Given the description of an element on the screen output the (x, y) to click on. 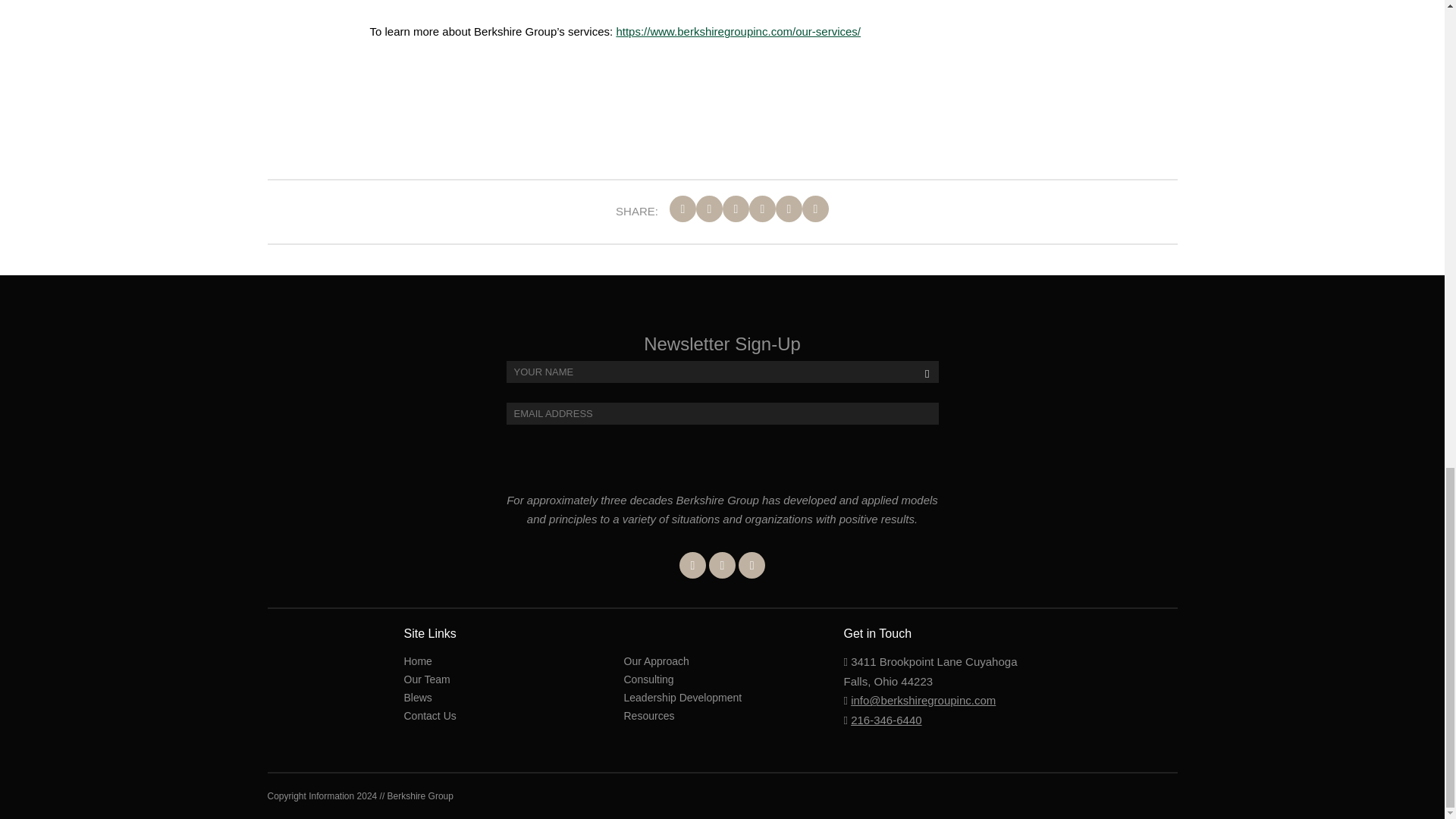
Our Team (426, 679)
Blews (416, 697)
Twitter (722, 565)
Facebook (692, 565)
LinkedIn (751, 565)
Contact Us (429, 715)
Our Approach (655, 661)
Home (416, 661)
